Given the description of an element on the screen output the (x, y) to click on. 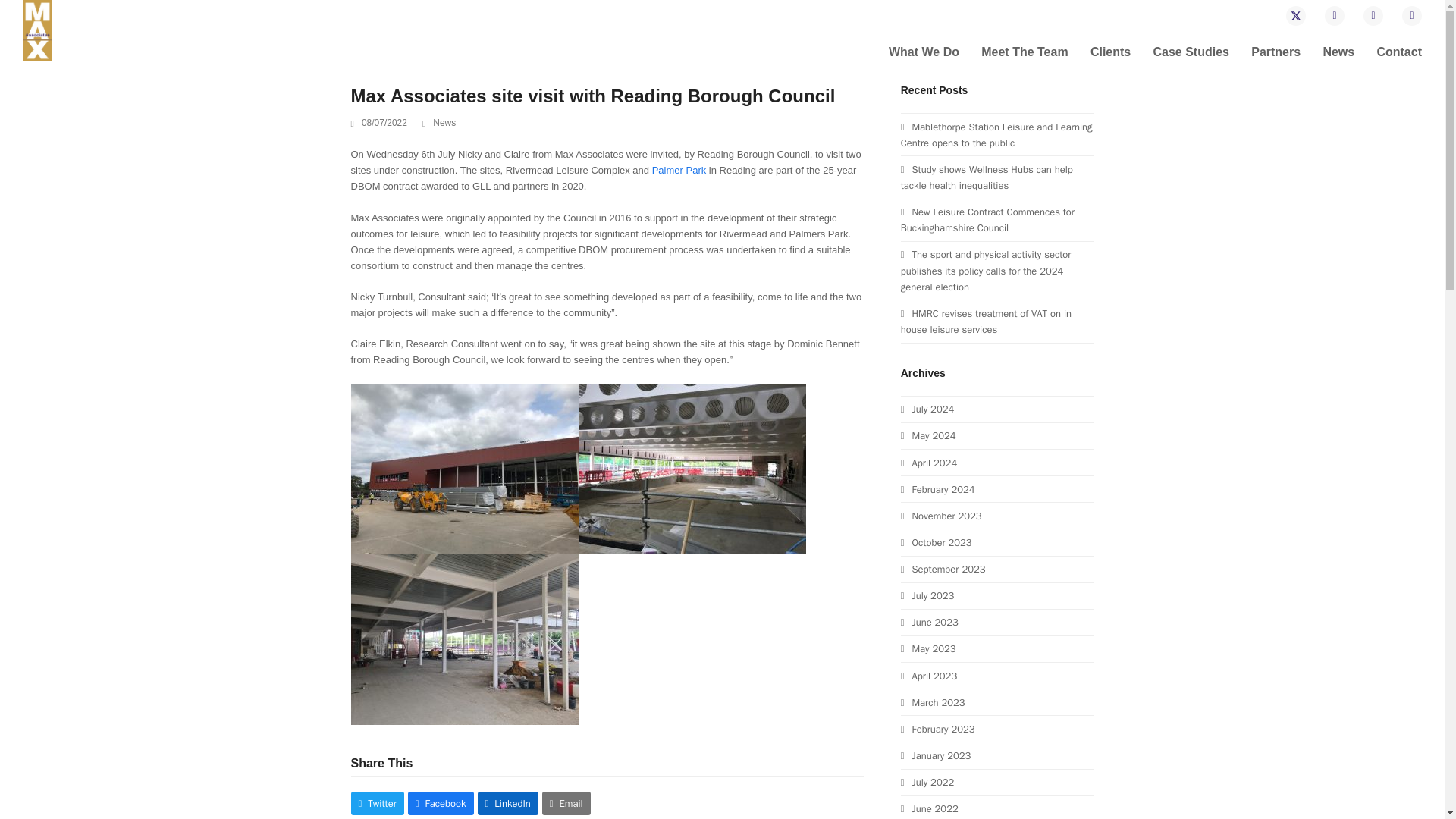
May 2024 (928, 435)
April 2024 (928, 462)
What We Do (923, 53)
September 2023 (943, 568)
November 2023 (941, 515)
February 2024 (938, 489)
Twitter (1295, 15)
Partners (1275, 53)
May 2023 (928, 648)
July 2024 (928, 408)
Email (1333, 15)
April 2023 (928, 675)
News (443, 122)
June 2023 (929, 621)
HMRC revises treatment of VAT on in house leisure services (986, 321)
